Given the description of an element on the screen output the (x, y) to click on. 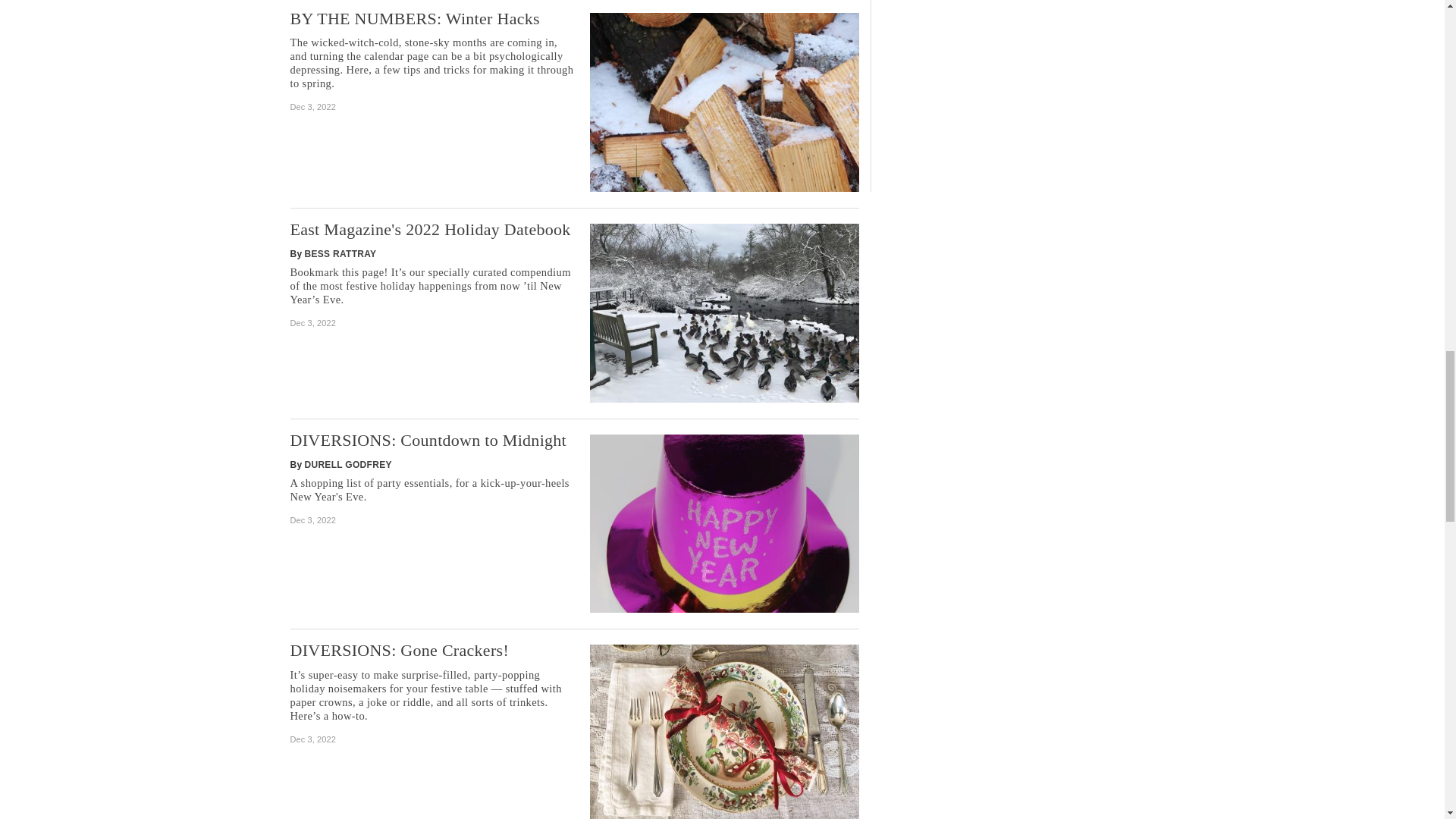
Advertisement (1018, 80)
